Given the description of an element on the screen output the (x, y) to click on. 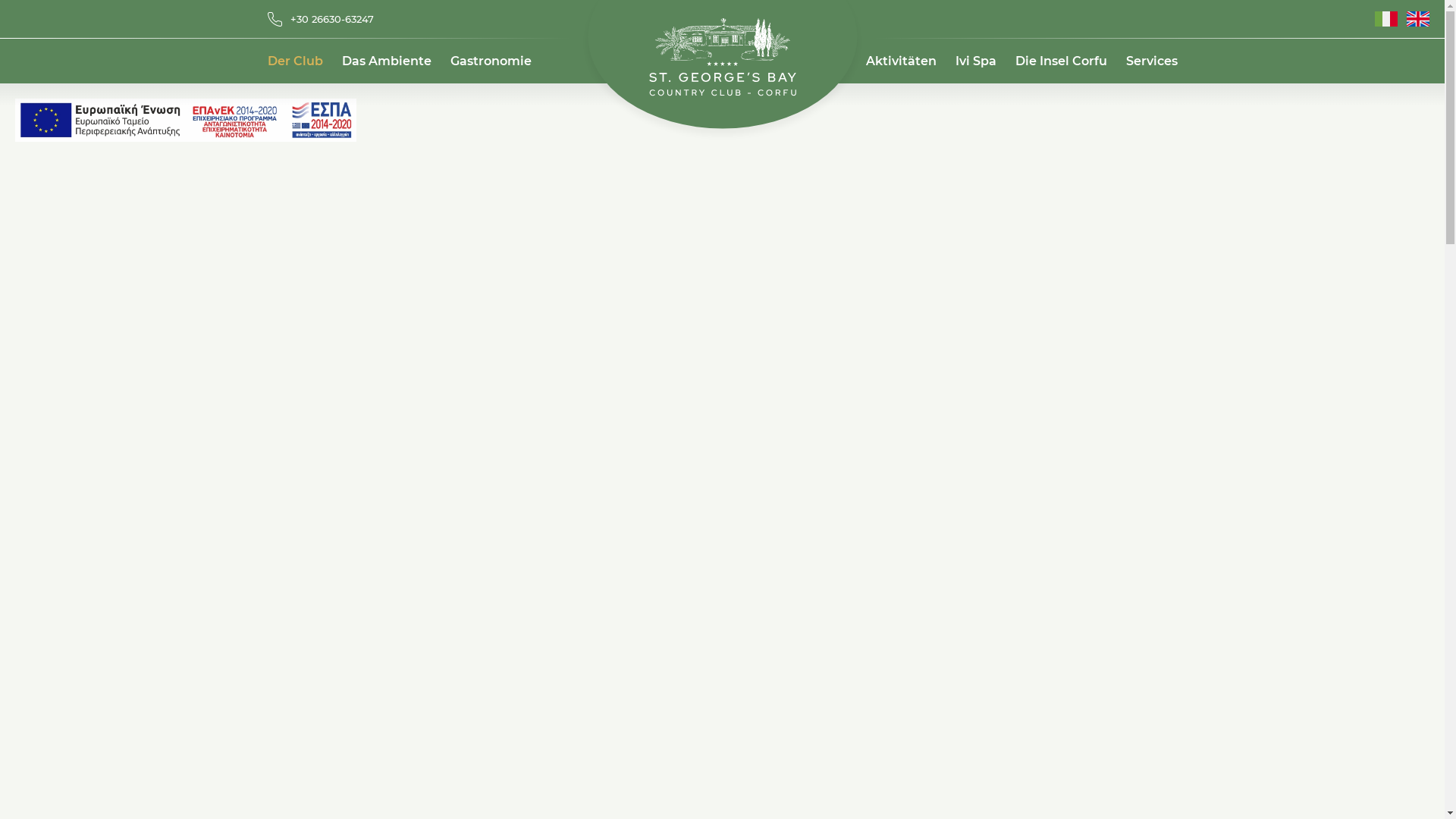
Das Ambiente Element type: text (385, 60)
+30 26630-63247 Element type: text (319, 18)
Die Insel Corfu Element type: text (1060, 60)
Services Element type: text (1150, 60)
Der Club Element type: text (294, 60)
Ivi Spa Element type: text (975, 60)
Gastronomie Element type: text (490, 60)
